Given the description of an element on the screen output the (x, y) to click on. 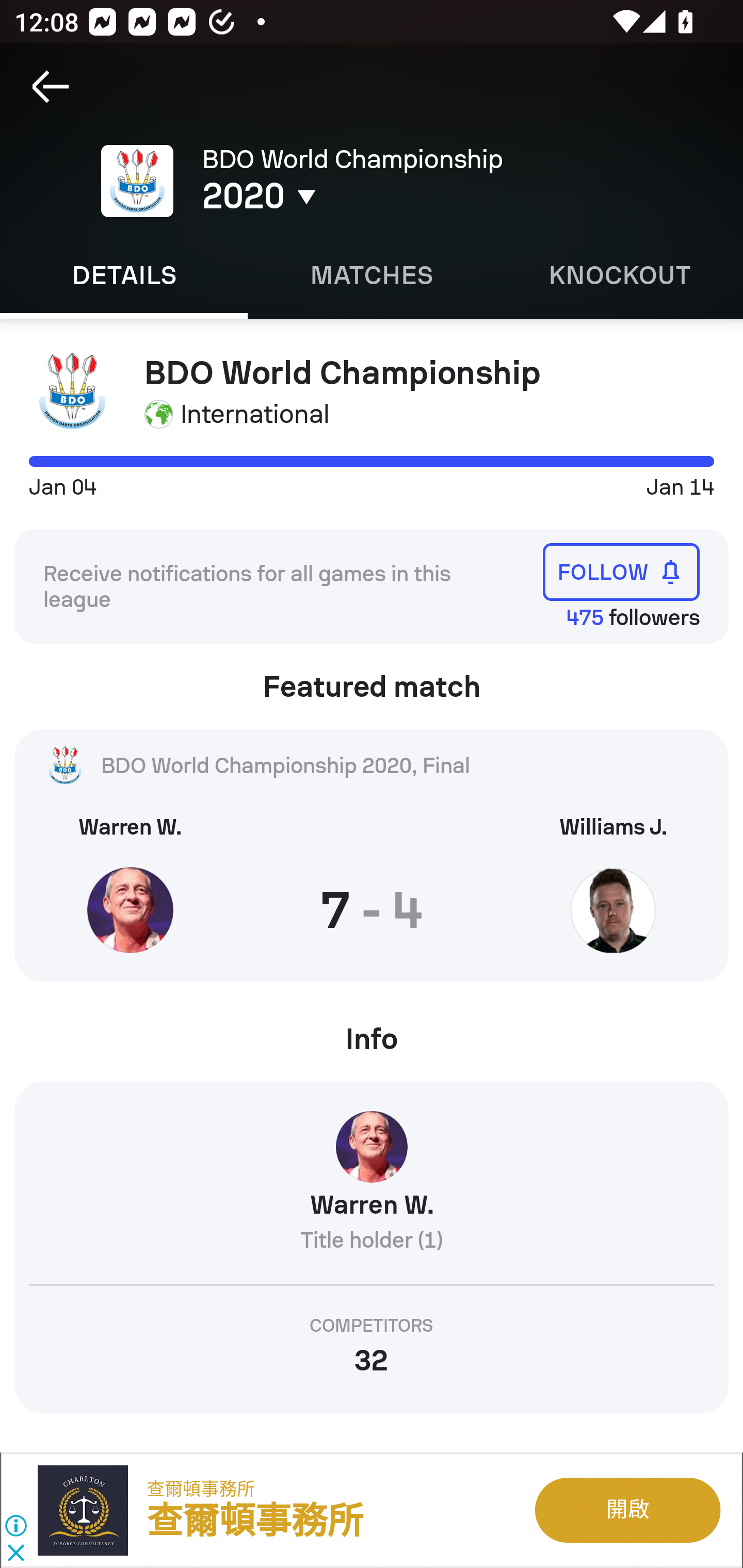
Navigate up (50, 86)
2020 (350, 195)
Matches MATCHES (371, 275)
Knockout KNOCKOUT (619, 275)
FOLLOW (621, 571)
Warren W. Title holder (1) (371, 1190)
www.charltondivorce (92, 1509)
查爾頓事務所 (200, 1488)
開啟 (626, 1509)
查爾頓事務所 (254, 1521)
